Given the description of an element on the screen output the (x, y) to click on. 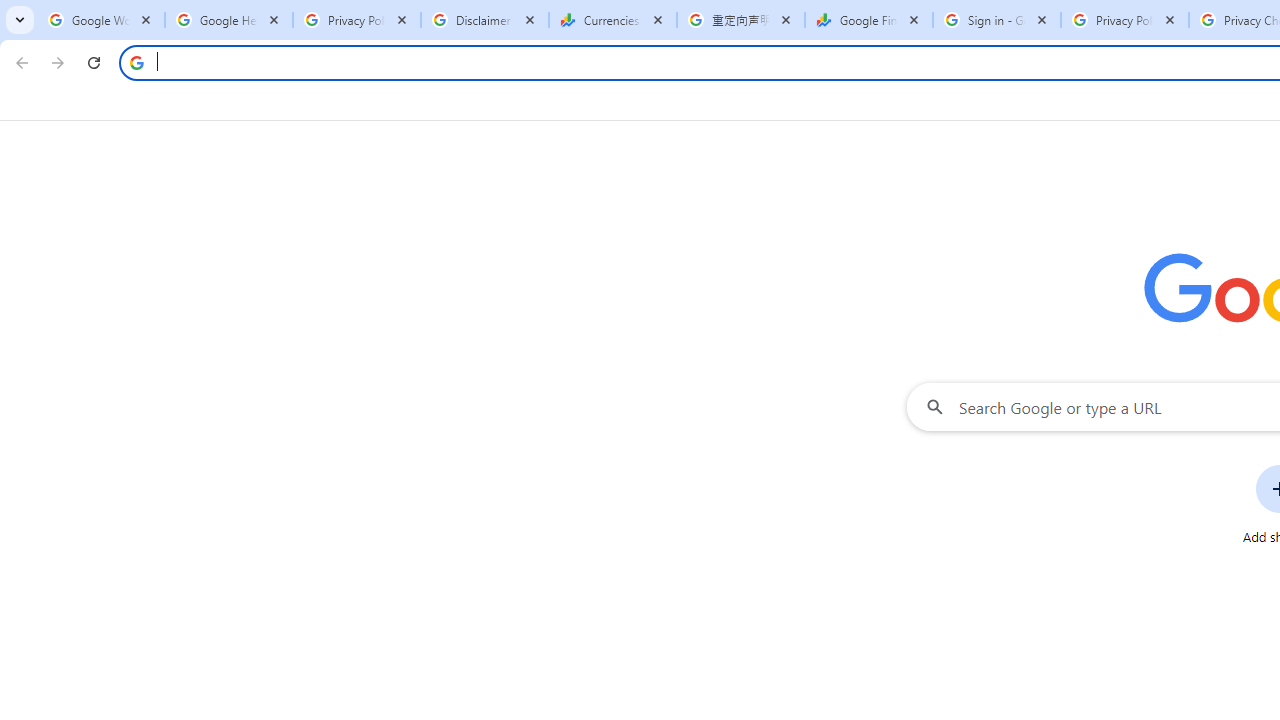
Sign in - Google Accounts (997, 20)
Google Workspace Admin Community (101, 20)
Currencies - Google Finance (613, 20)
